Given the description of an element on the screen output the (x, y) to click on. 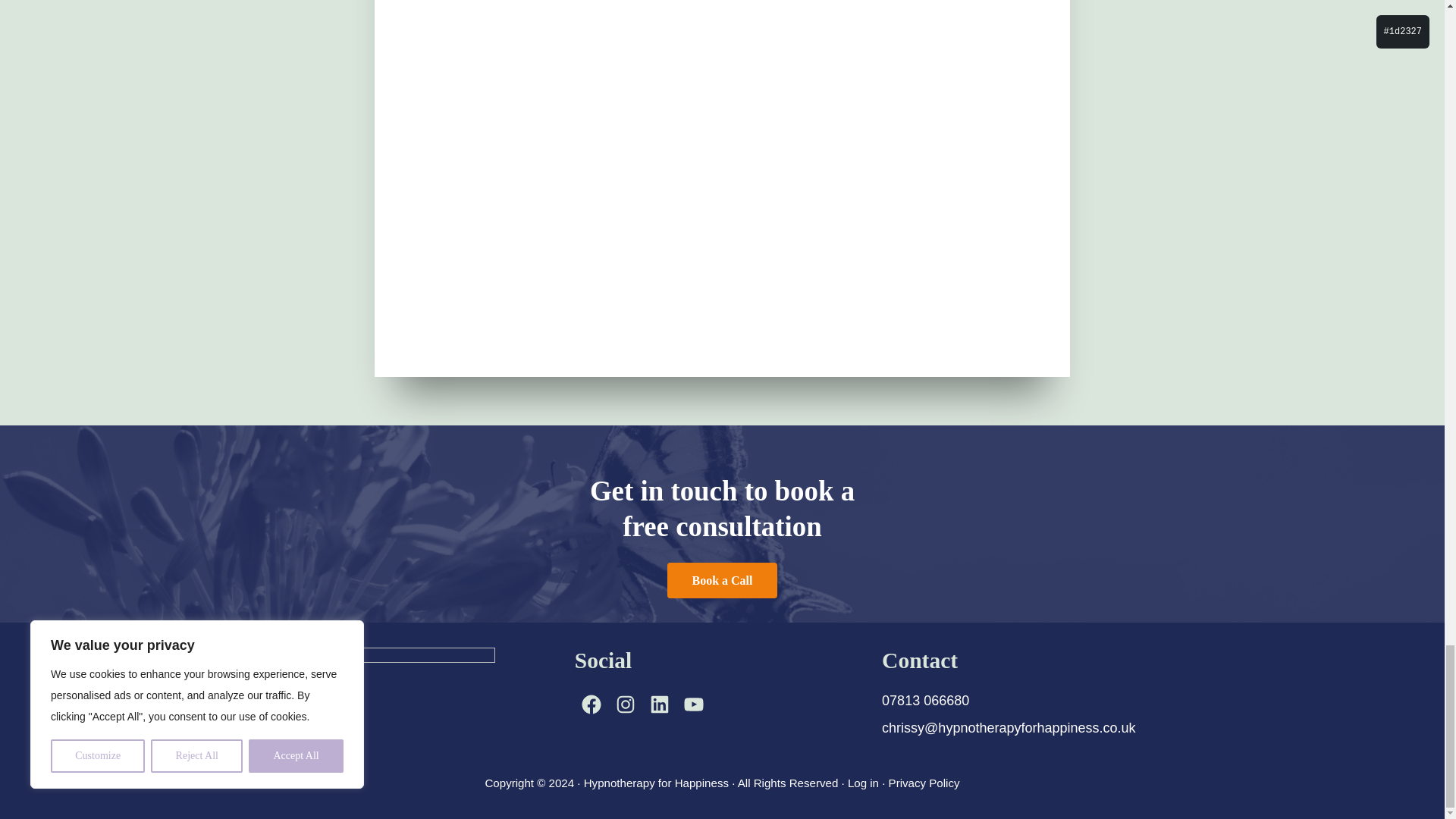
Privacy Policy (923, 782)
